Given the description of an element on the screen output the (x, y) to click on. 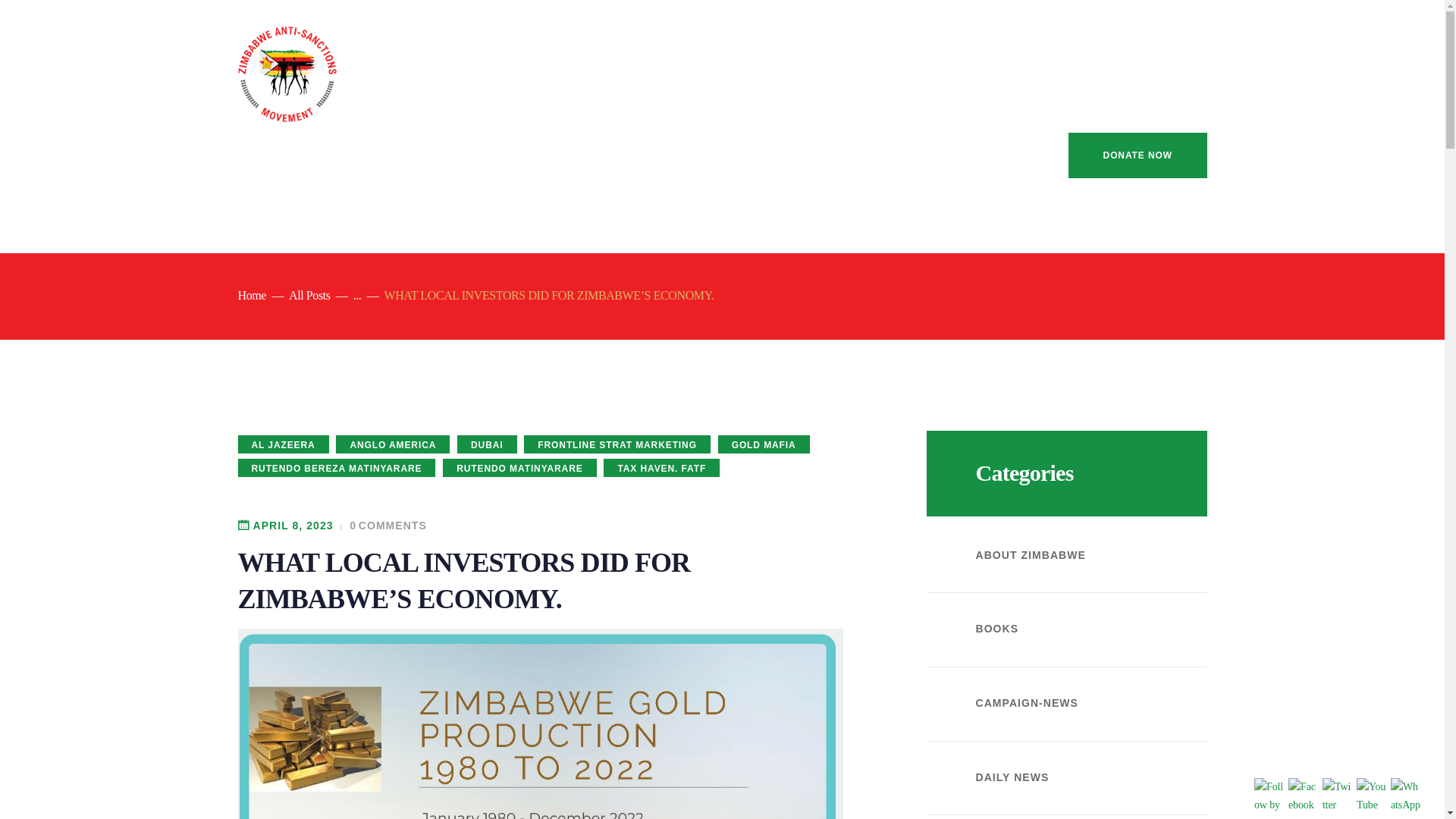
DONATE NOW (1137, 155)
APRIL 8, 2023 (293, 525)
FRONTLINE STRAT MARKETING (617, 443)
TAX HAVEN. FATF (661, 467)
All Posts (309, 295)
Home (252, 295)
RUTENDO BEREZA MATINYARARE (336, 467)
ANGLO AMERICA (392, 443)
GOLD MAFIA (763, 443)
DUBAI (486, 443)
0COMMENTS (381, 525)
RUTENDO MATINYARARE (518, 467)
AL JAZEERA (283, 443)
